Given the description of an element on the screen output the (x, y) to click on. 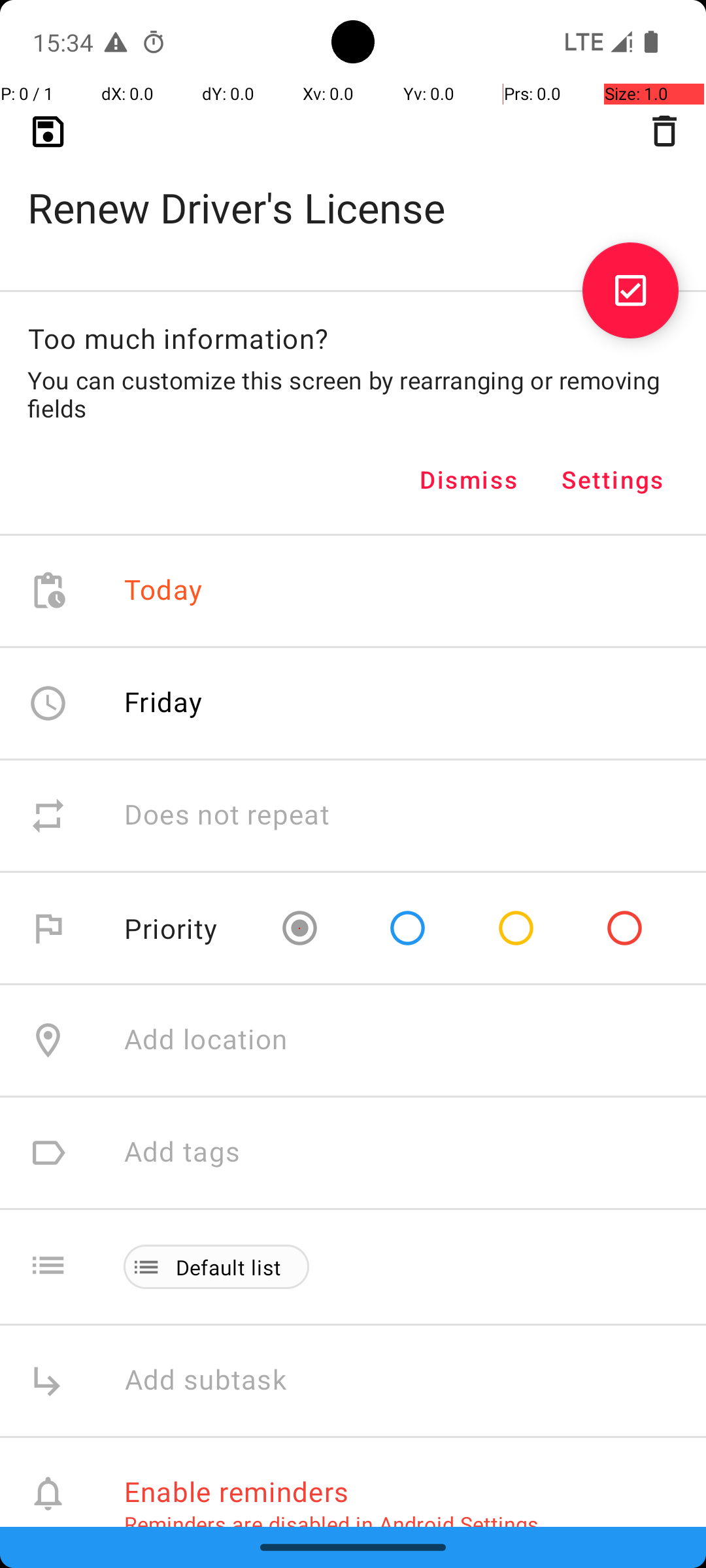
Renew Driver's License Element type: android.widget.EditText (353, 186)
Enable reminders Element type: android.widget.TextView (236, 1490)
Reminders are disabled in Android Settings Element type: android.widget.TextView (331, 1523)
